Given the description of an element on the screen output the (x, y) to click on. 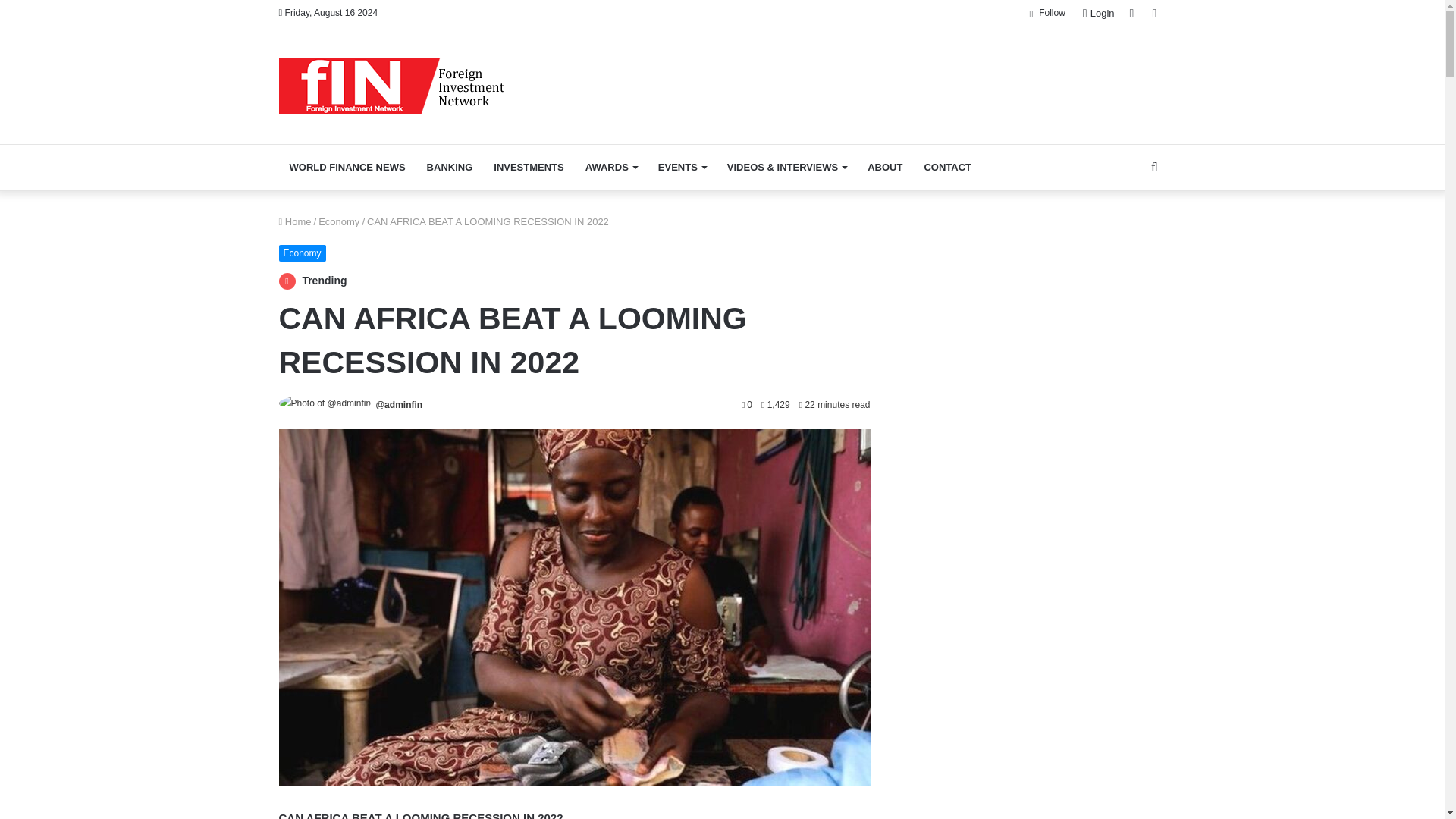
Foreign Investment Network (392, 85)
BANKING (449, 167)
Economy (338, 221)
AWARDS (611, 167)
Follow (1046, 13)
Home (295, 221)
EVENTS (681, 167)
Economy (302, 252)
CONTACT (946, 167)
INVESTMENTS (528, 167)
